Given the description of an element on the screen output the (x, y) to click on. 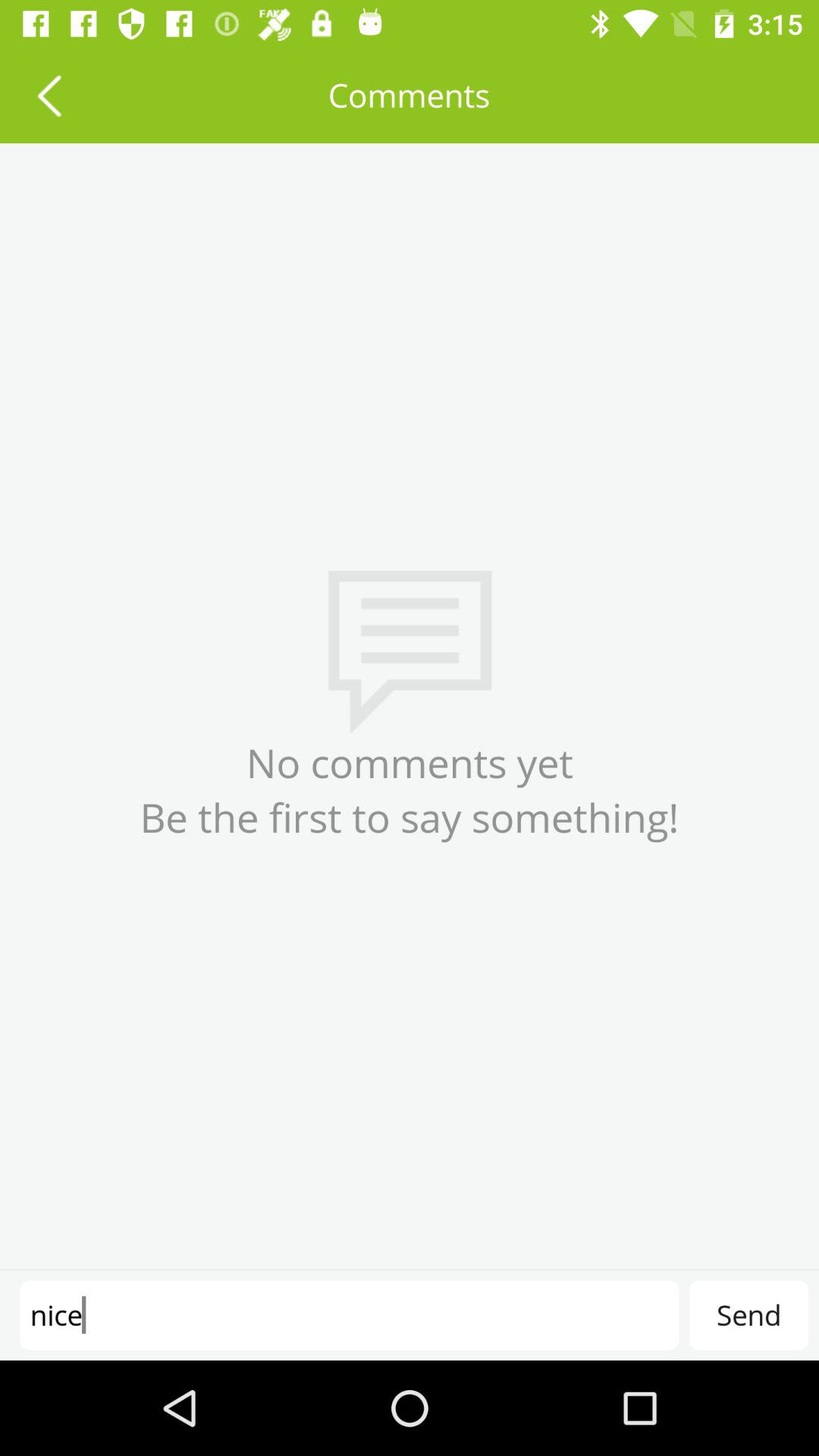
jump until send item (748, 1315)
